Given the description of an element on the screen output the (x, y) to click on. 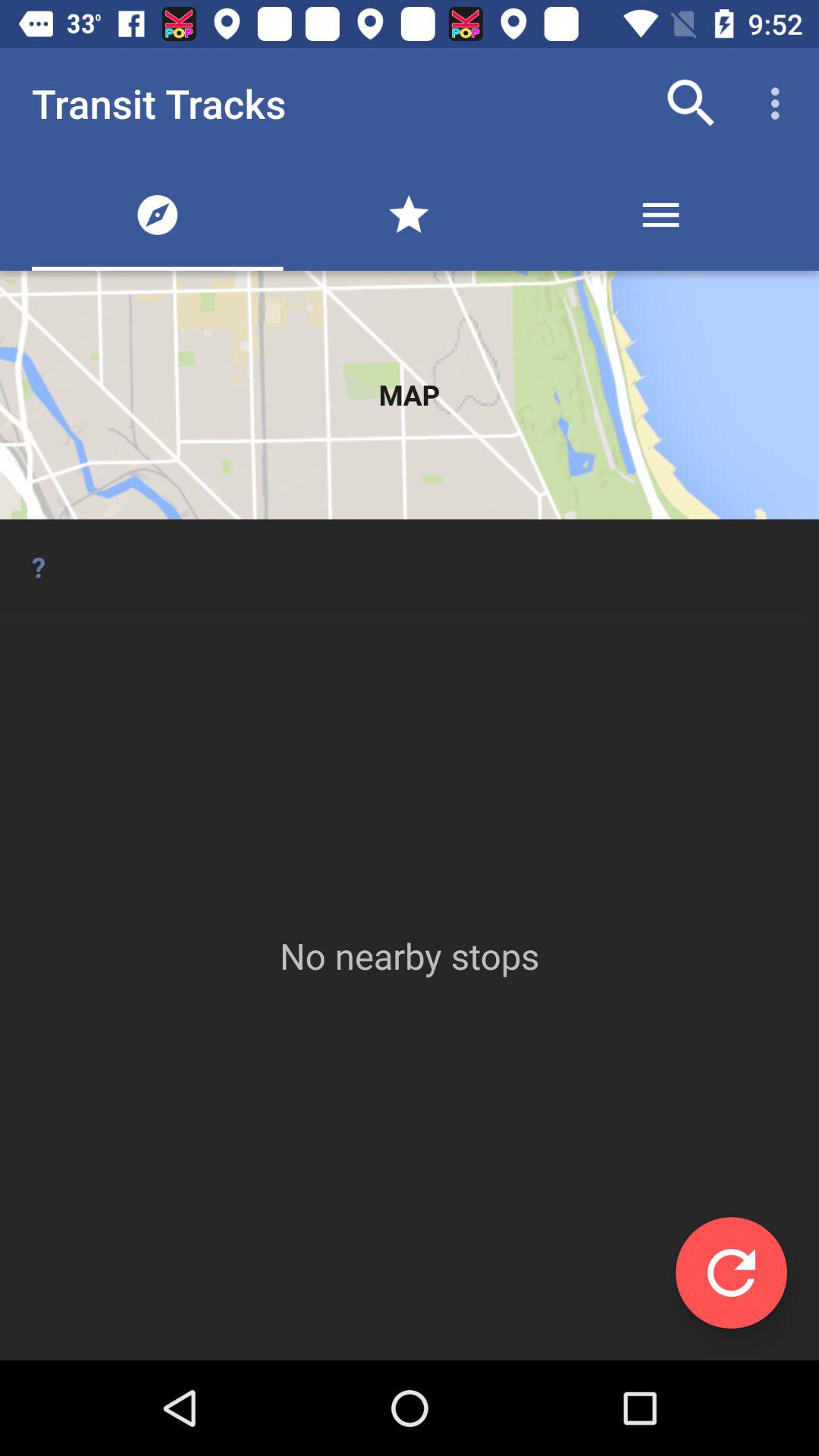
click the icon next to transit tracks item (691, 103)
